Given the description of an element on the screen output the (x, y) to click on. 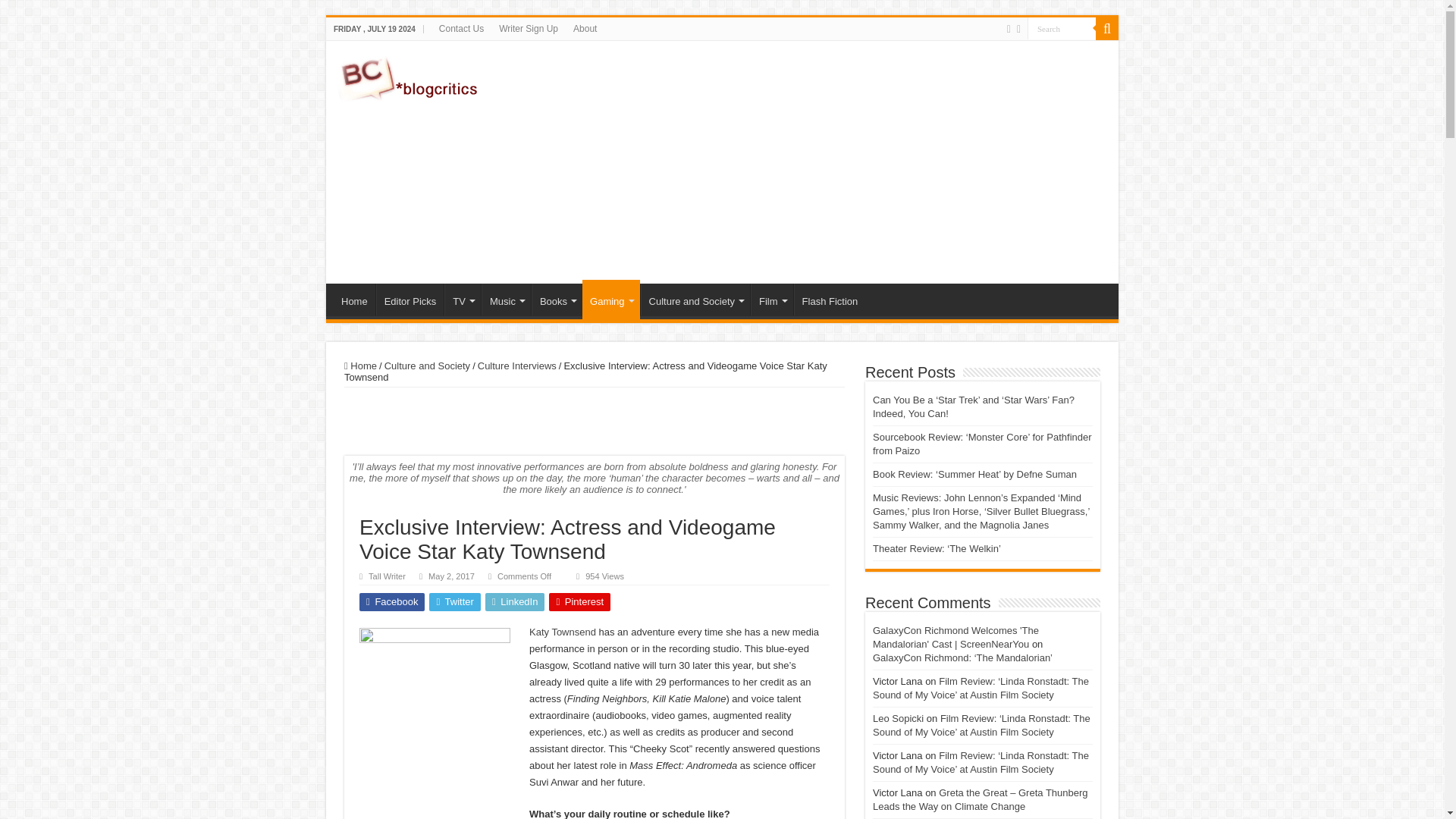
Advertisement (830, 162)
Blogcritics (409, 75)
Search (1061, 28)
Search (1061, 28)
Search (1061, 28)
